Given the description of an element on the screen output the (x, y) to click on. 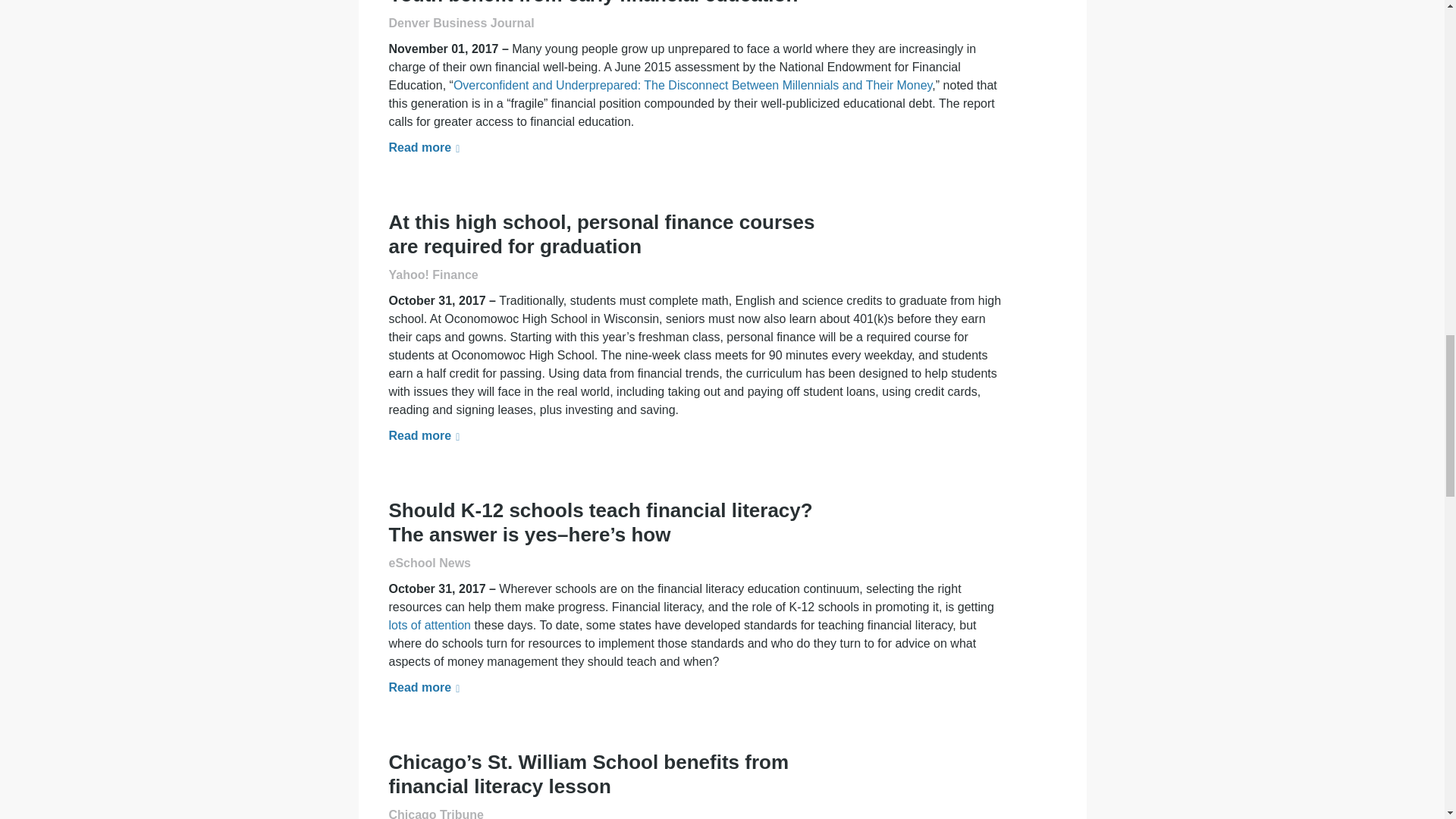
Read more (424, 686)
Read more (424, 146)
lots of attention (429, 625)
Read more (424, 435)
